Given the description of an element on the screen output the (x, y) to click on. 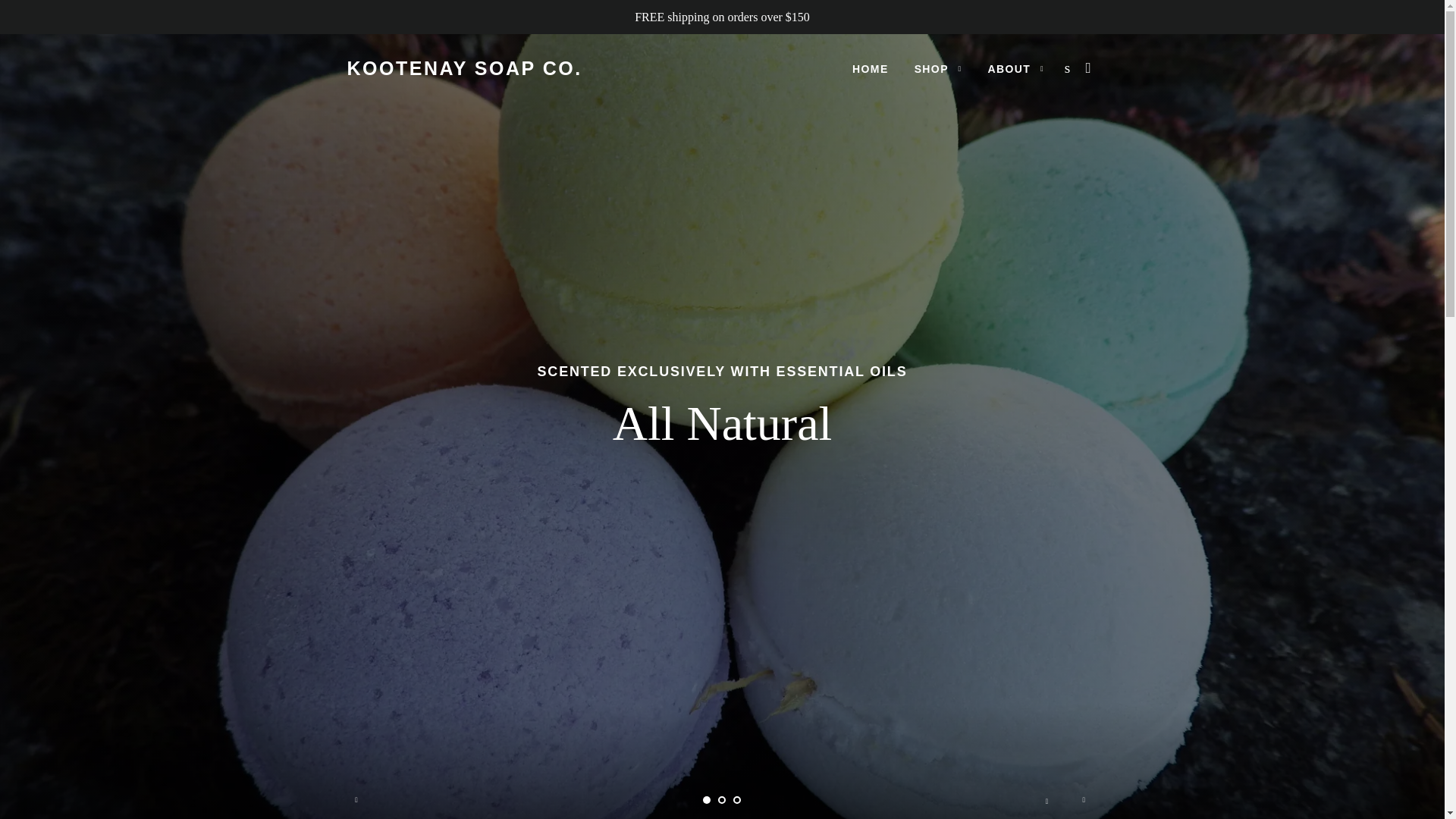
SHOP (938, 69)
KOOTENAY SOAP CO. (464, 68)
HOME (870, 69)
ABOUT (1016, 69)
